Given the description of an element on the screen output the (x, y) to click on. 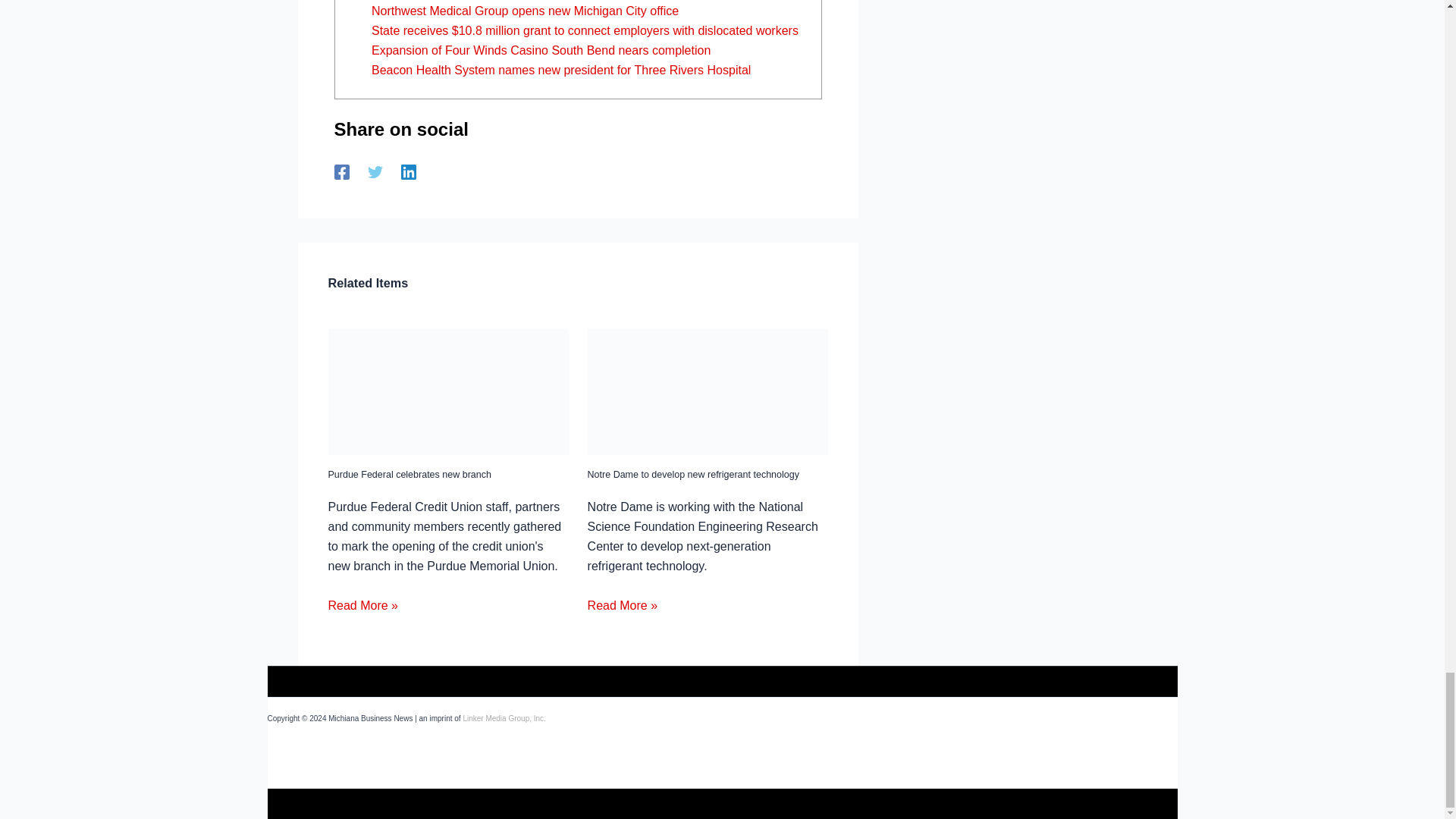
Expansion of Four Winds Casino South Bend nears completion (540, 50)
Northwest Medical Group opens new Michigan City office (524, 10)
